Given the description of an element on the screen output the (x, y) to click on. 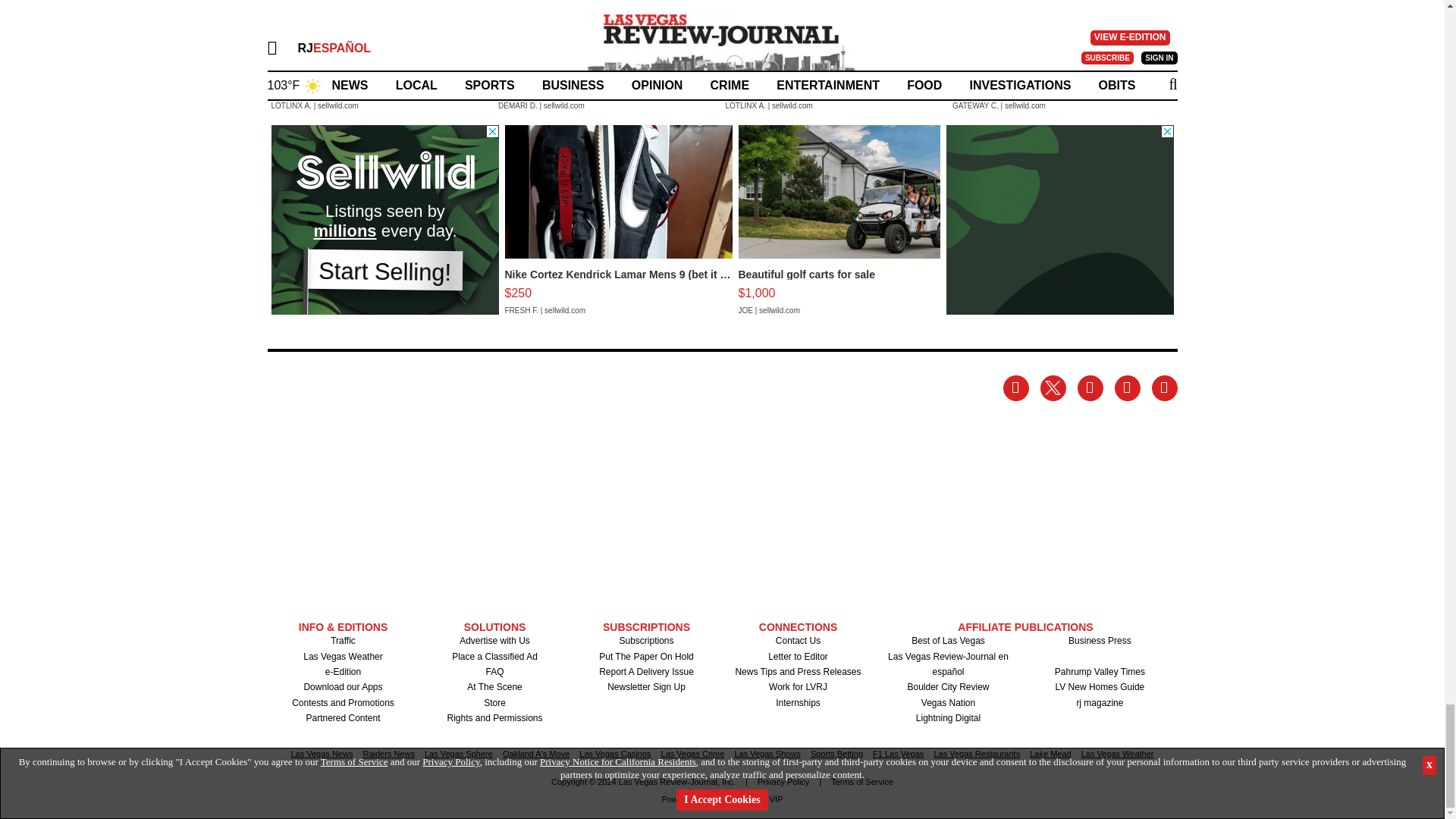
3rd party ad content (1059, 219)
3rd party ad content (384, 219)
